Given the description of an element on the screen output the (x, y) to click on. 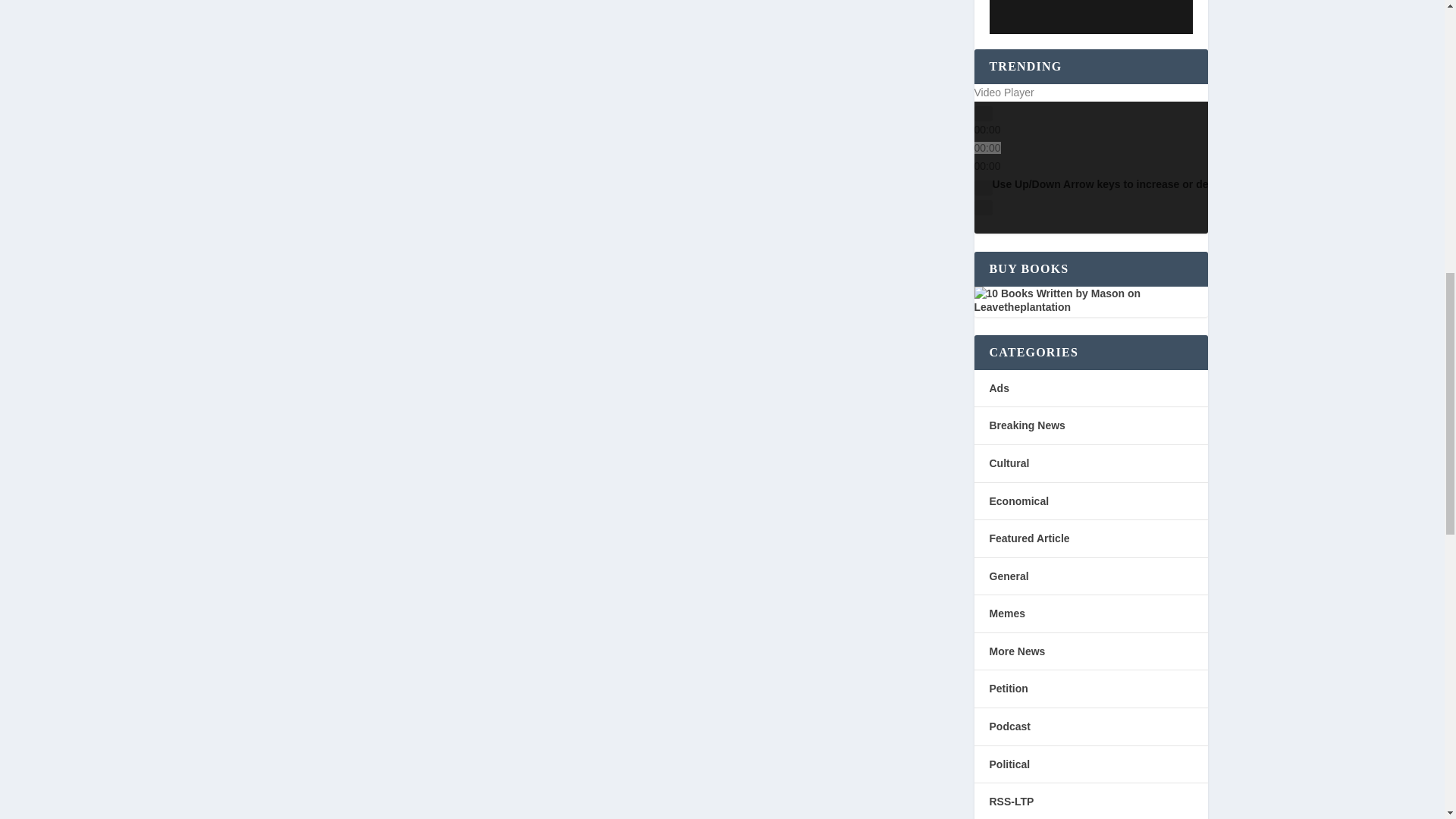
Fullscreen (982, 207)
Buy Books (1090, 299)
Mute (982, 187)
Play (982, 113)
